Given the description of an element on the screen output the (x, y) to click on. 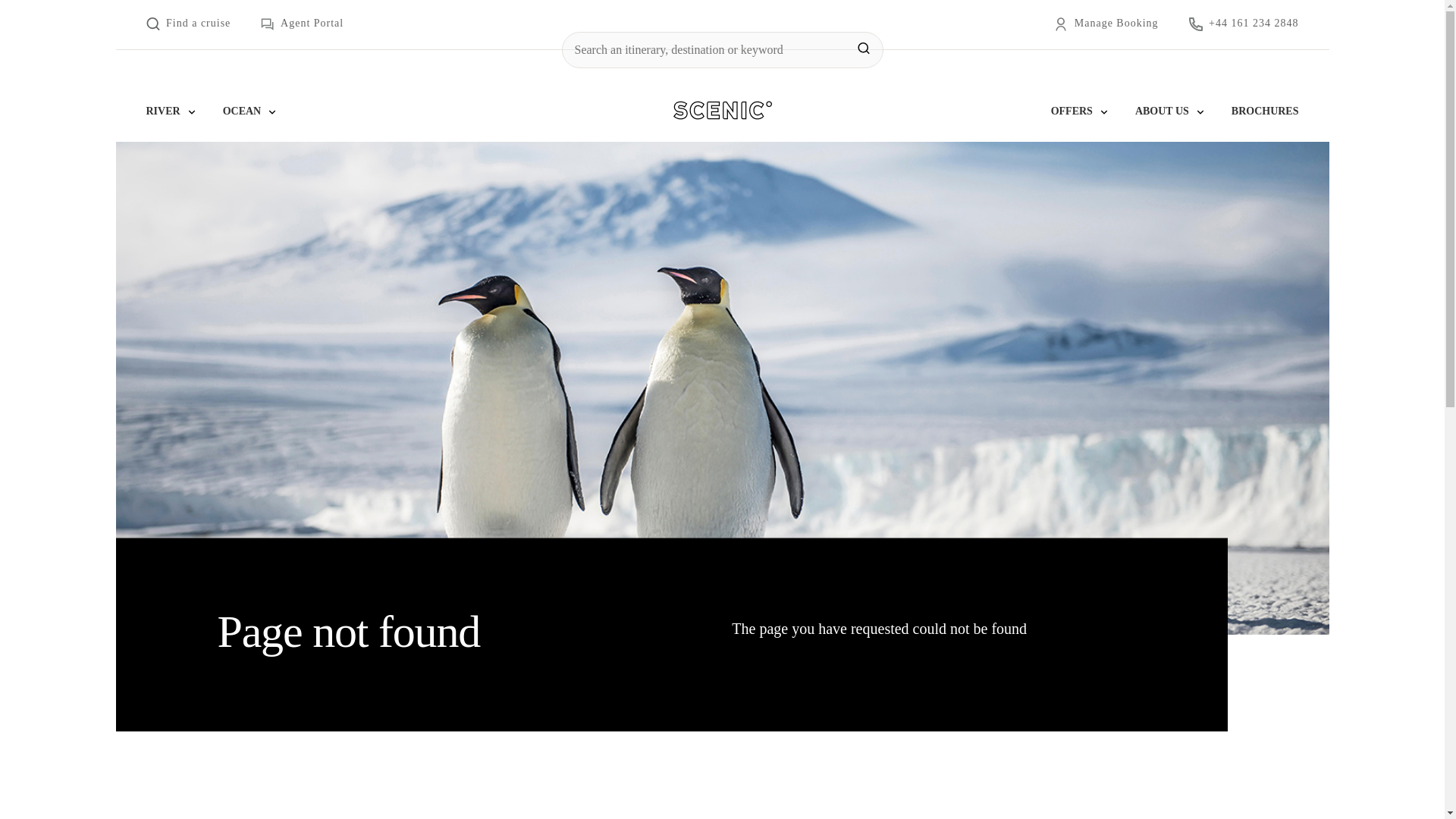
Agent Portal (301, 24)
Find a cruise (187, 24)
Manage Booking (1105, 24)
